Given the description of an element on the screen output the (x, y) to click on. 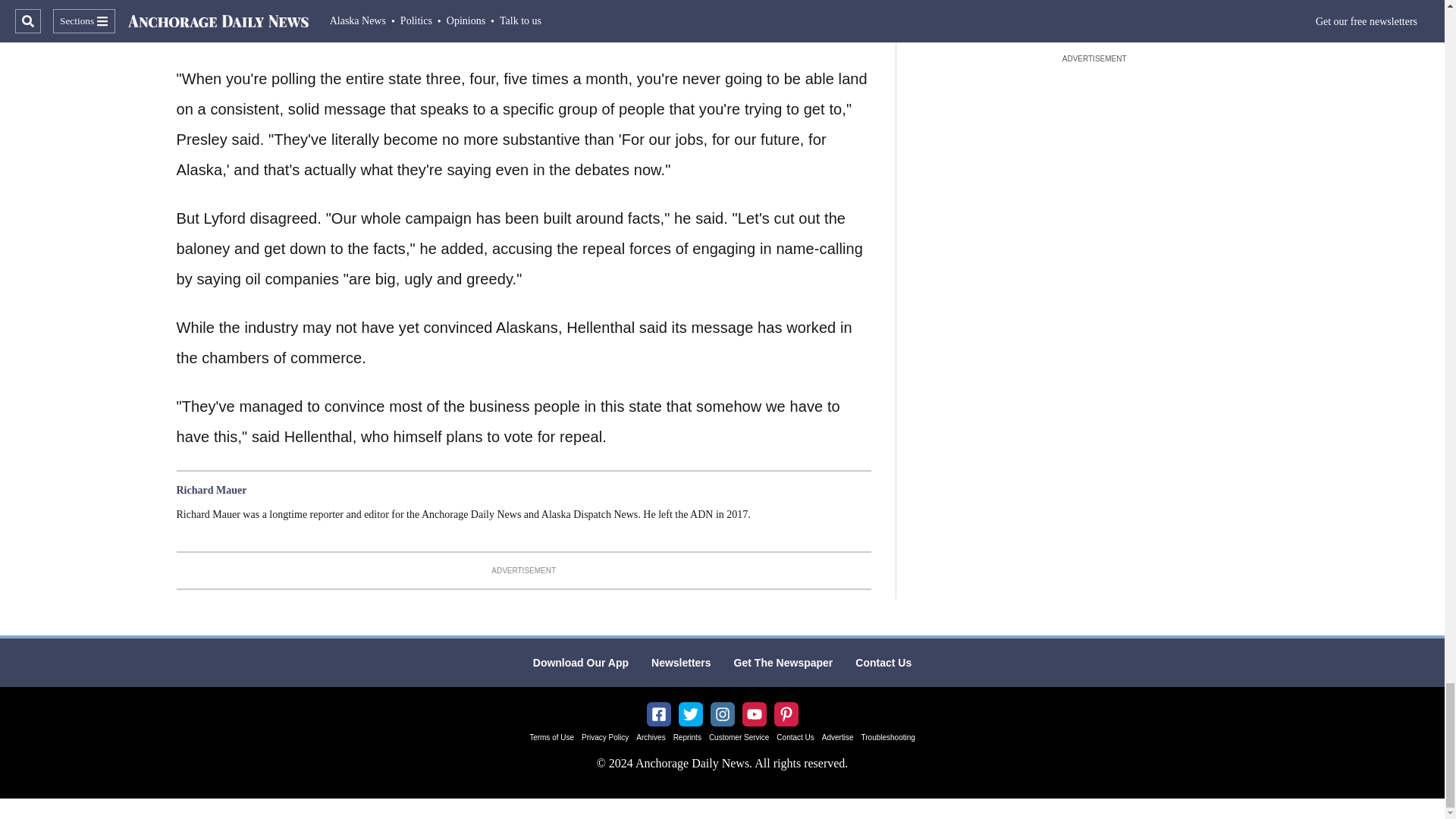
Twitter IconTwitter Account for Anchorage Daily News (689, 713)
Instagram IconAnchorage Daily News instagram account (721, 713)
PinterestAnchorage Daily News Pinterest Account (785, 713)
YouTube iconAnchorage Daily News YouTube channel (753, 713)
Facebook IconAnchorage Daily News Facebook Page (657, 713)
